Given the description of an element on the screen output the (x, y) to click on. 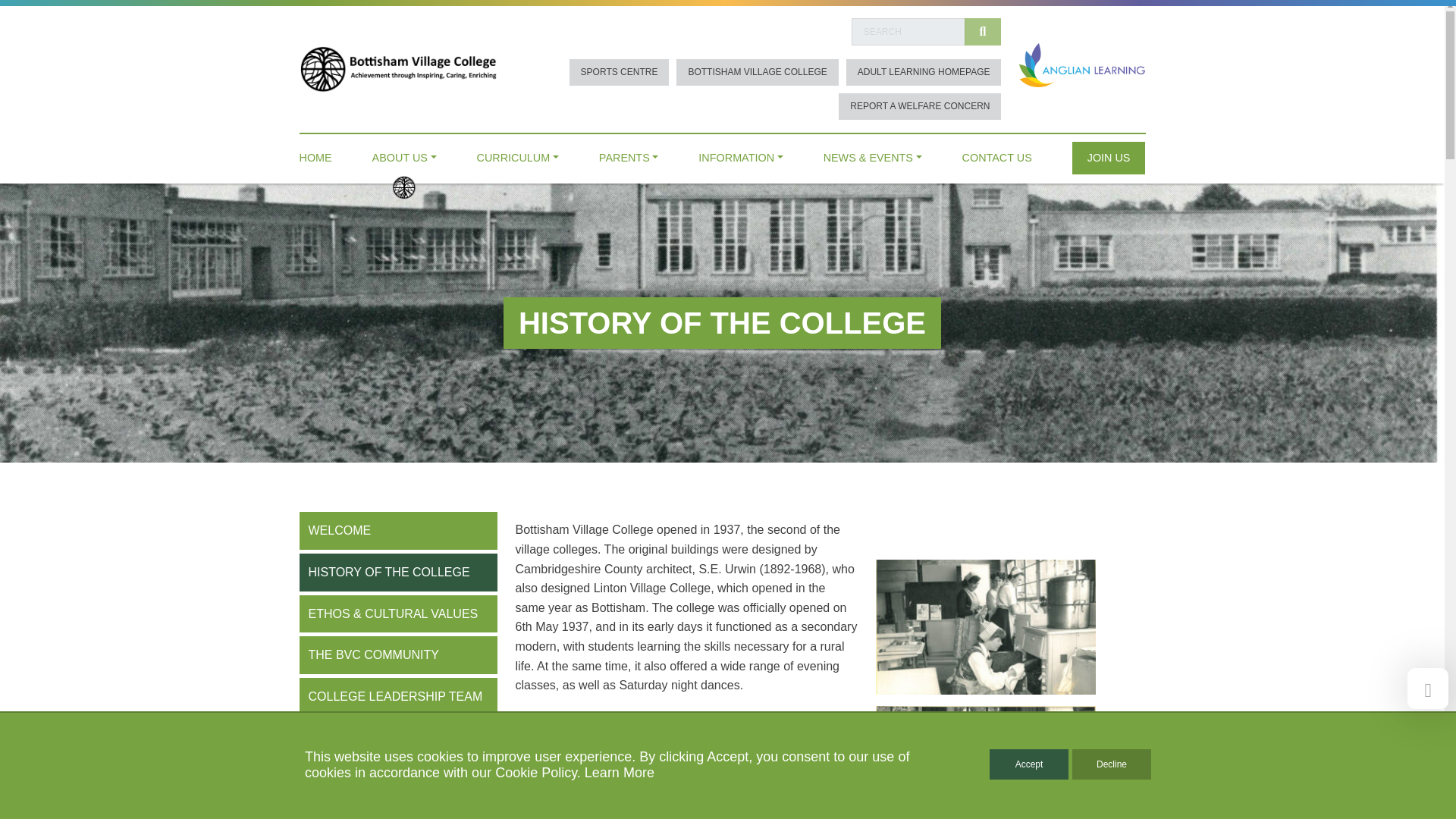
ABOUT US (404, 154)
PARENTS (628, 154)
HOME (314, 154)
SPORTS CENTRE (619, 71)
CURRICULUM (518, 154)
ADULT LEARNING HOMEPAGE (923, 71)
BOTTISHAM VILLAGE COLLEGE (757, 71)
Anglian Learning (1081, 64)
REPORT A WELFARE CONCERN (919, 106)
